Given the description of an element on the screen output the (x, y) to click on. 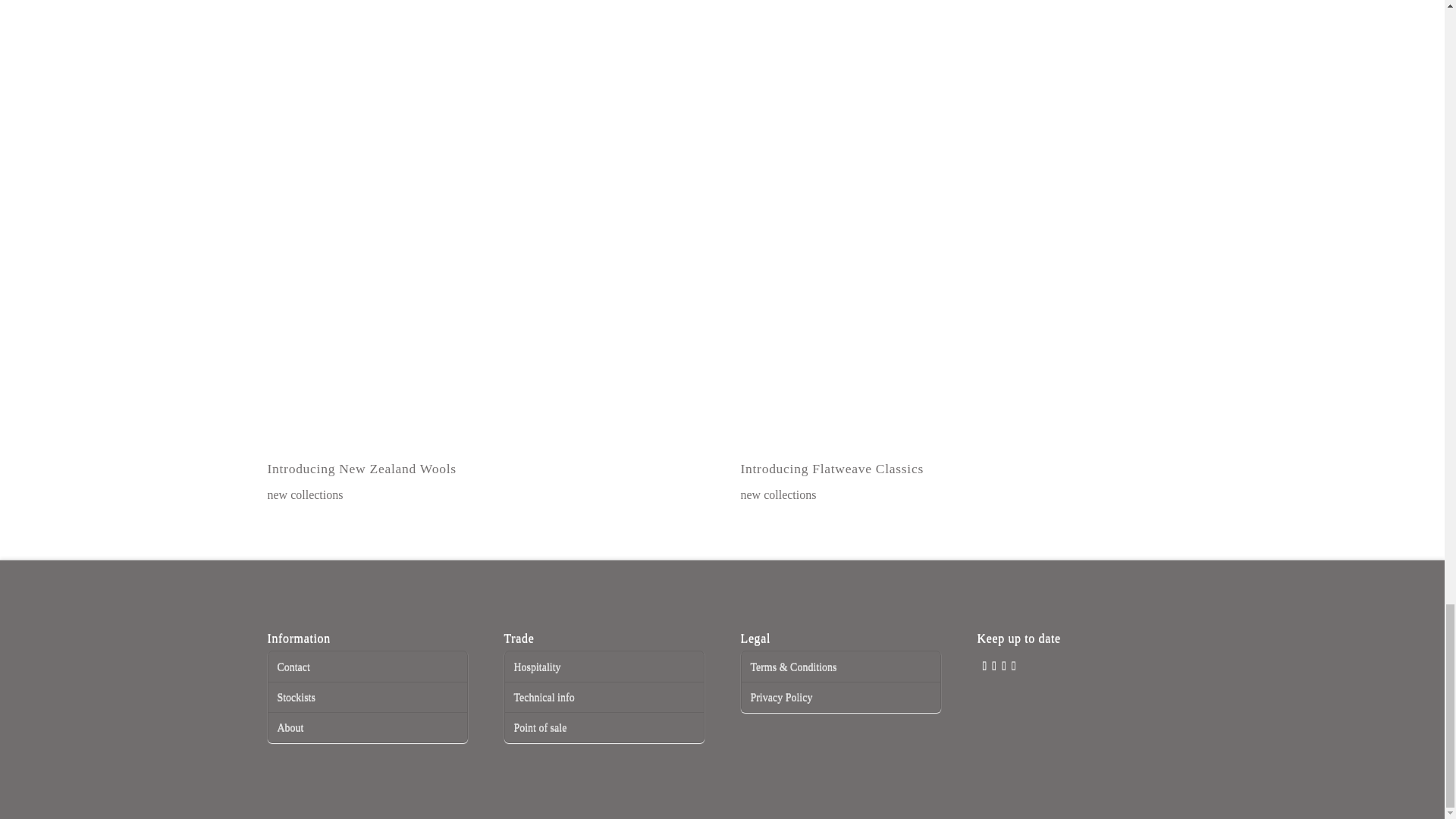
Introducing New Zealand Wools (484, 347)
Introducing Flatweave Classics (957, 347)
new collections (777, 494)
new collections (304, 494)
